Given the description of an element on the screen output the (x, y) to click on. 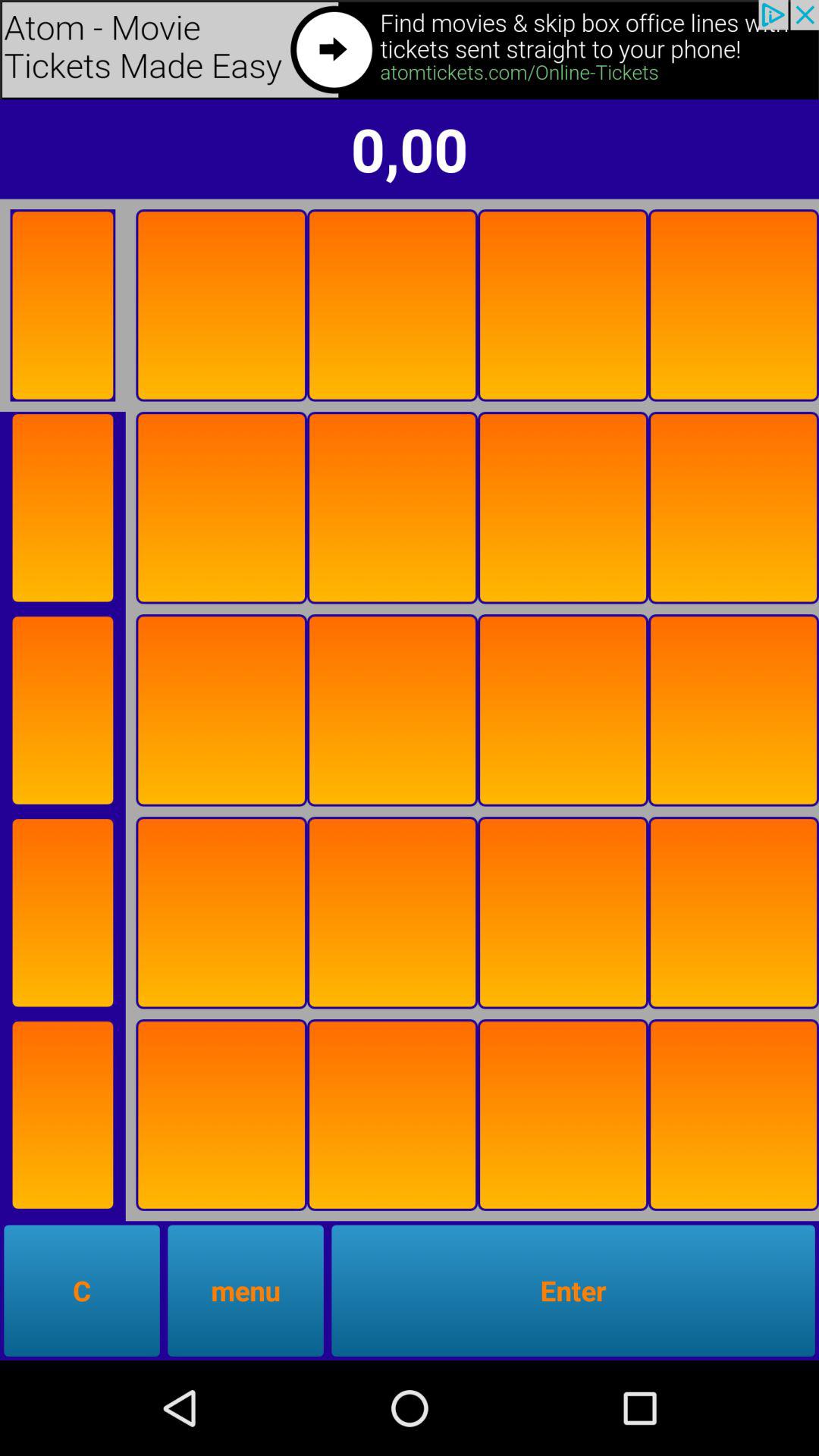
go to advertisement (62, 305)
